Given the description of an element on the screen output the (x, y) to click on. 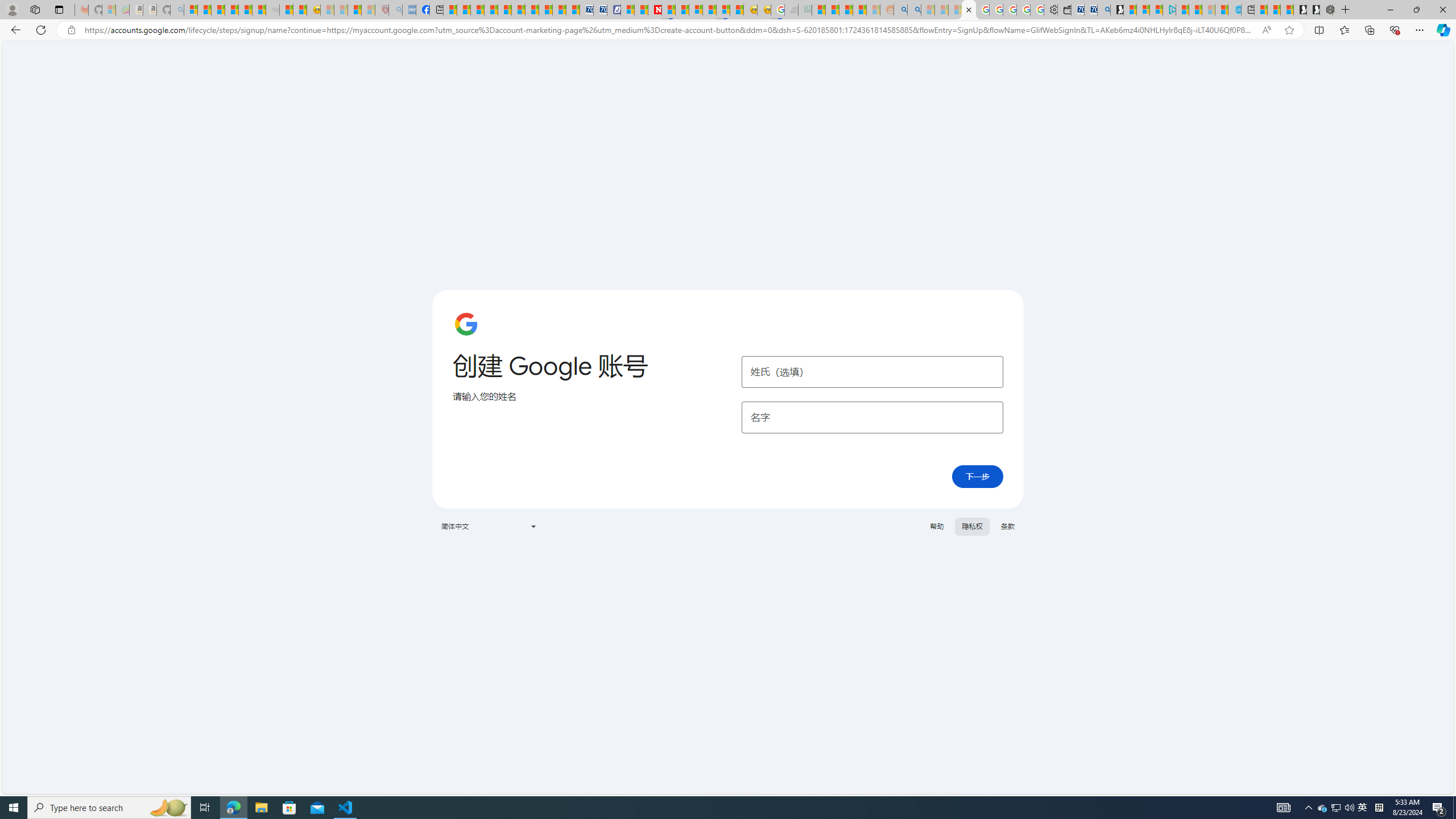
Nordace - Nordace Siena Is Not An Ordinary Backpack (1326, 9)
Robert H. Shmerling, MD - Harvard Health - Sleeping (381, 9)
Science - MSN (354, 9)
Home | Sky Blue Bikes - Sky Blue Bikes (1234, 9)
